Given the description of an element on the screen output the (x, y) to click on. 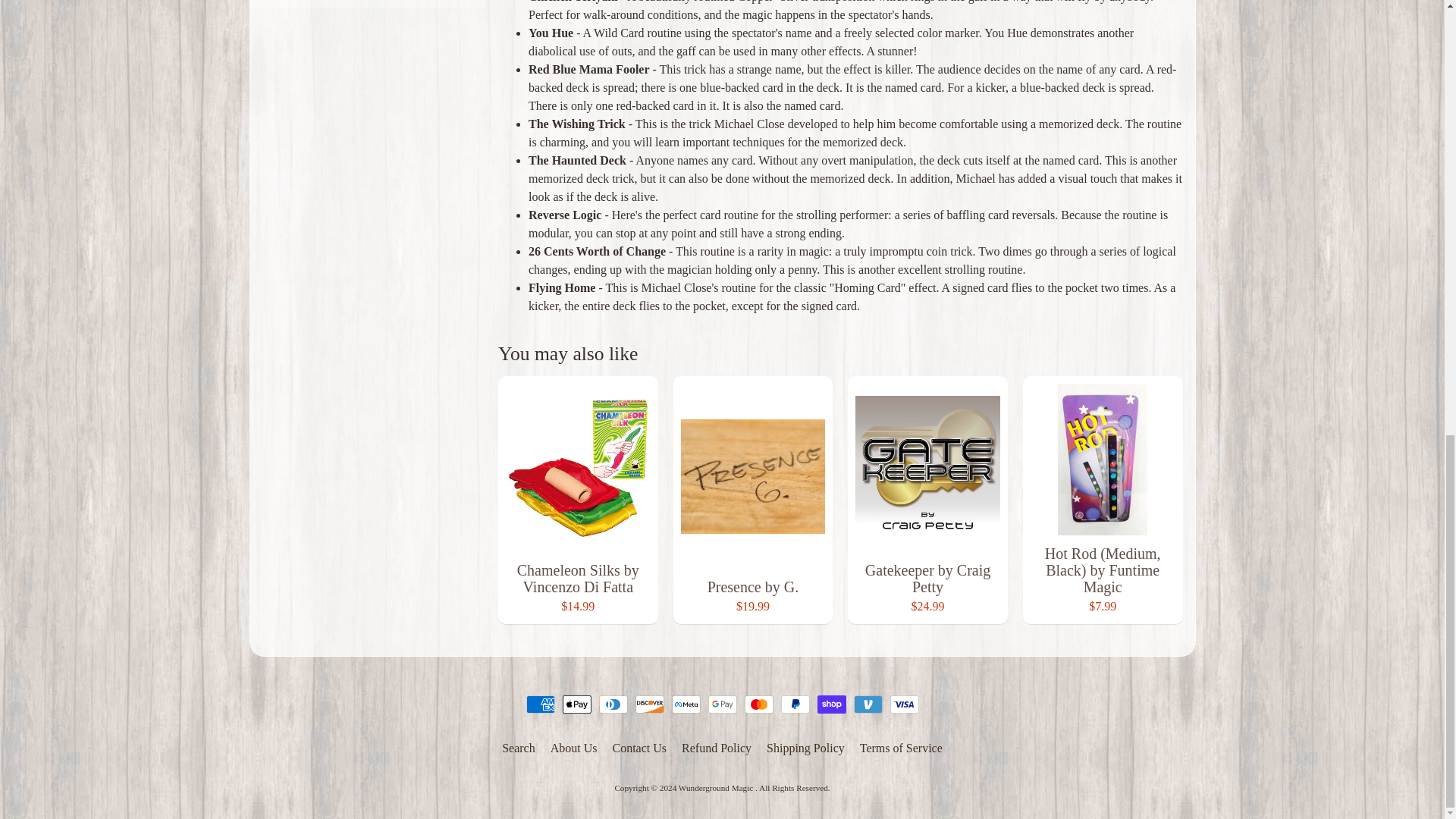
Meta Pay (685, 704)
Apple Pay (576, 704)
American Express (539, 704)
Venmo (867, 704)
PayPal (794, 704)
Shop Pay (830, 704)
Google Pay (721, 704)
Mastercard (758, 704)
Diners Club (612, 704)
Visa (903, 704)
Discover (648, 704)
